Given the description of an element on the screen output the (x, y) to click on. 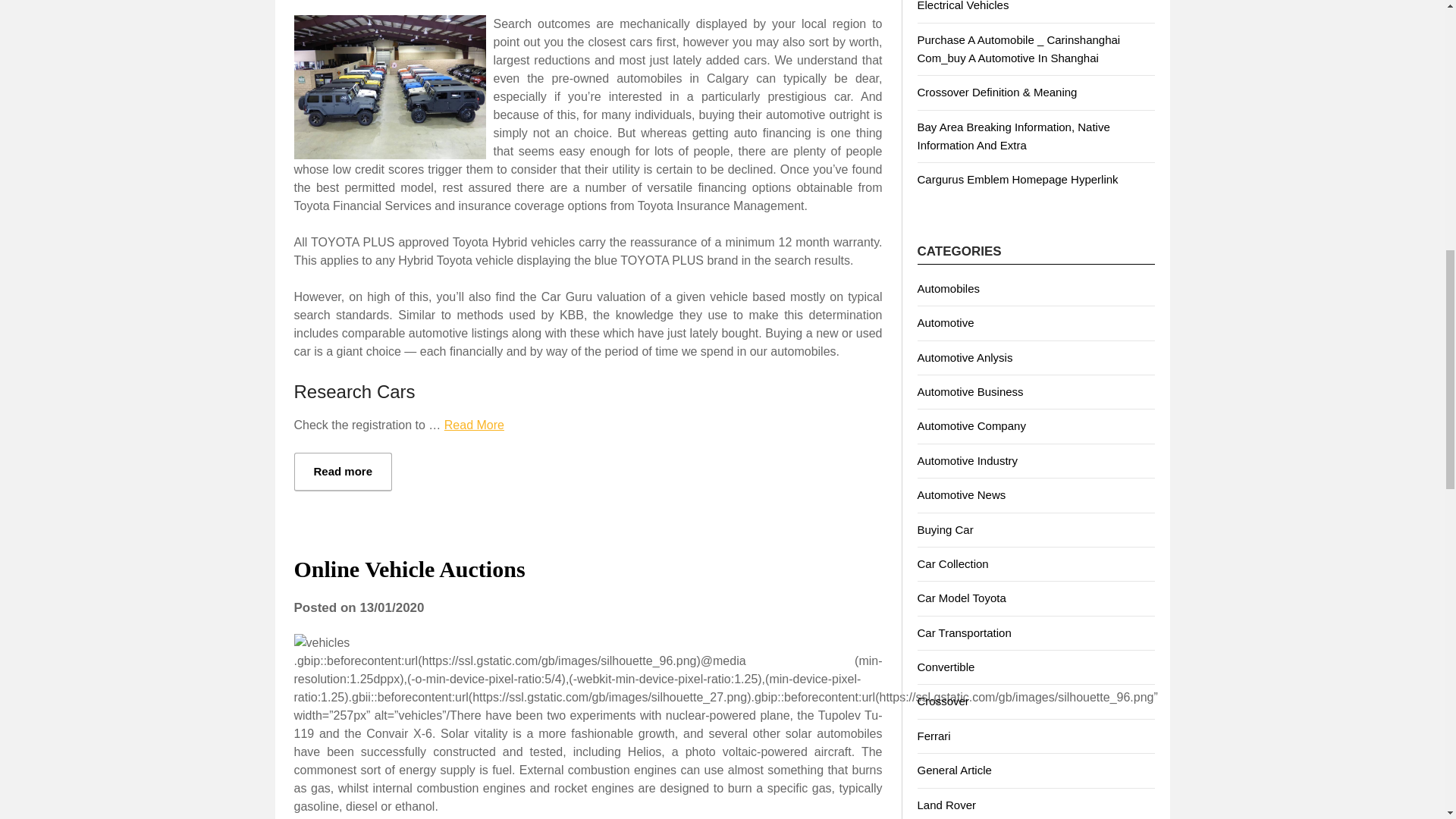
Online Vehicle Auctions (409, 568)
Read More (473, 424)
Read more (343, 471)
